Given the description of an element on the screen output the (x, y) to click on. 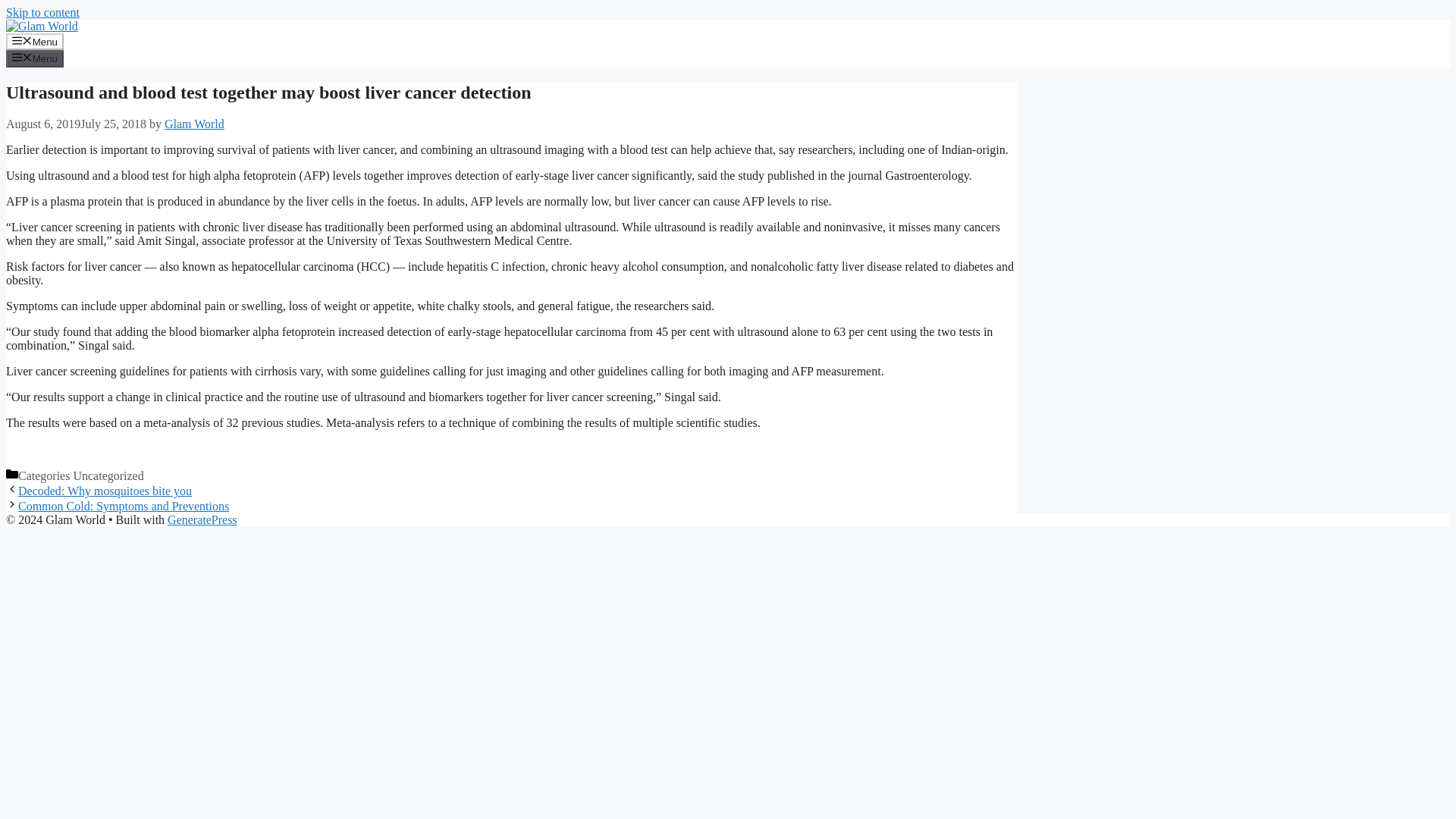
View all posts by Glam World (194, 123)
Decoded: Why mosquitoes bite you (104, 490)
Glam World (194, 123)
Menu (34, 57)
Skip to content (42, 11)
Skip to content (42, 11)
Menu (34, 41)
Common Cold: Symptoms and Preventions (122, 505)
